Given the description of an element on the screen output the (x, y) to click on. 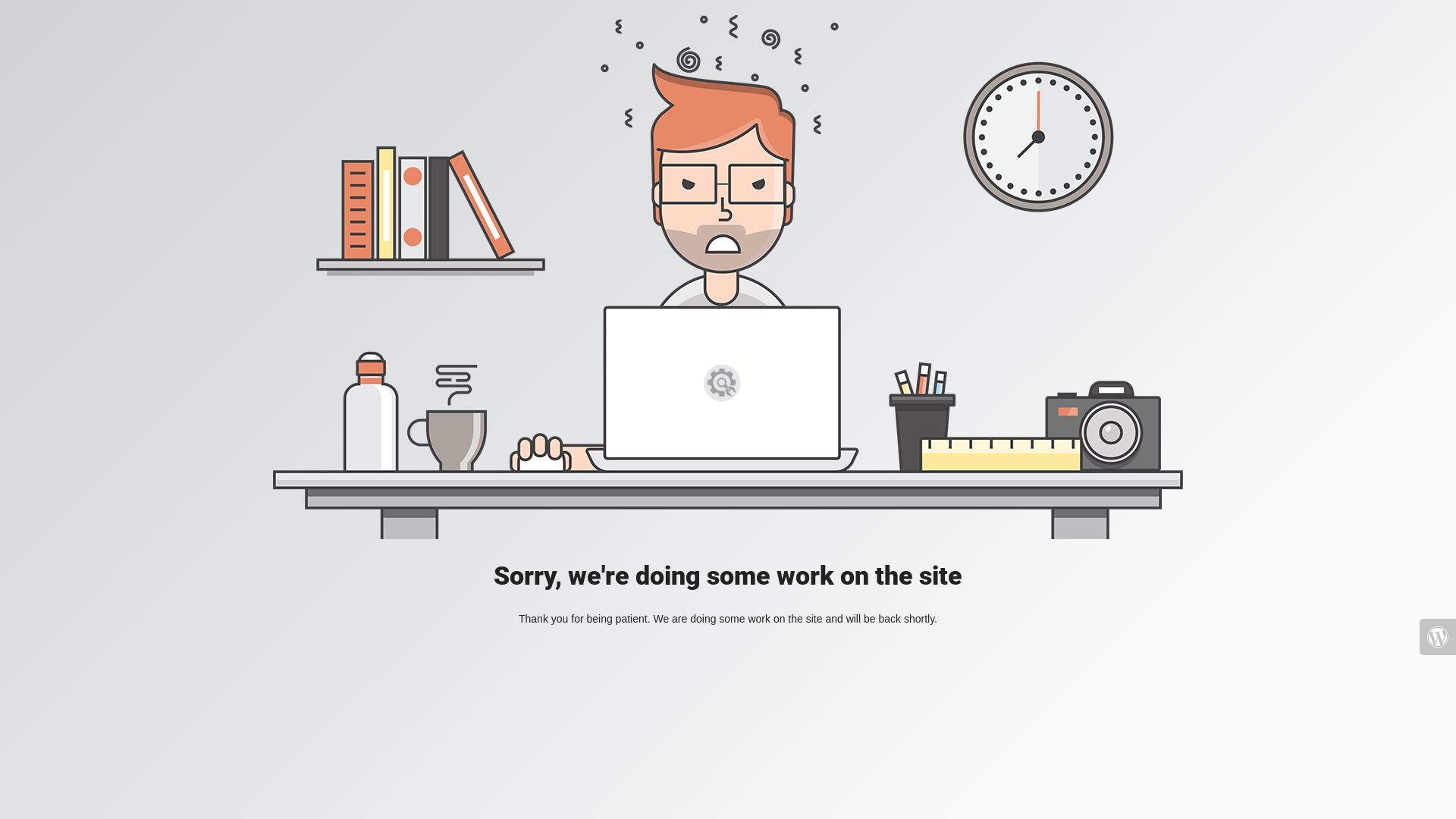
Mad Designer at work Element type: hover (728, 277)
